Given the description of an element on the screen output the (x, y) to click on. 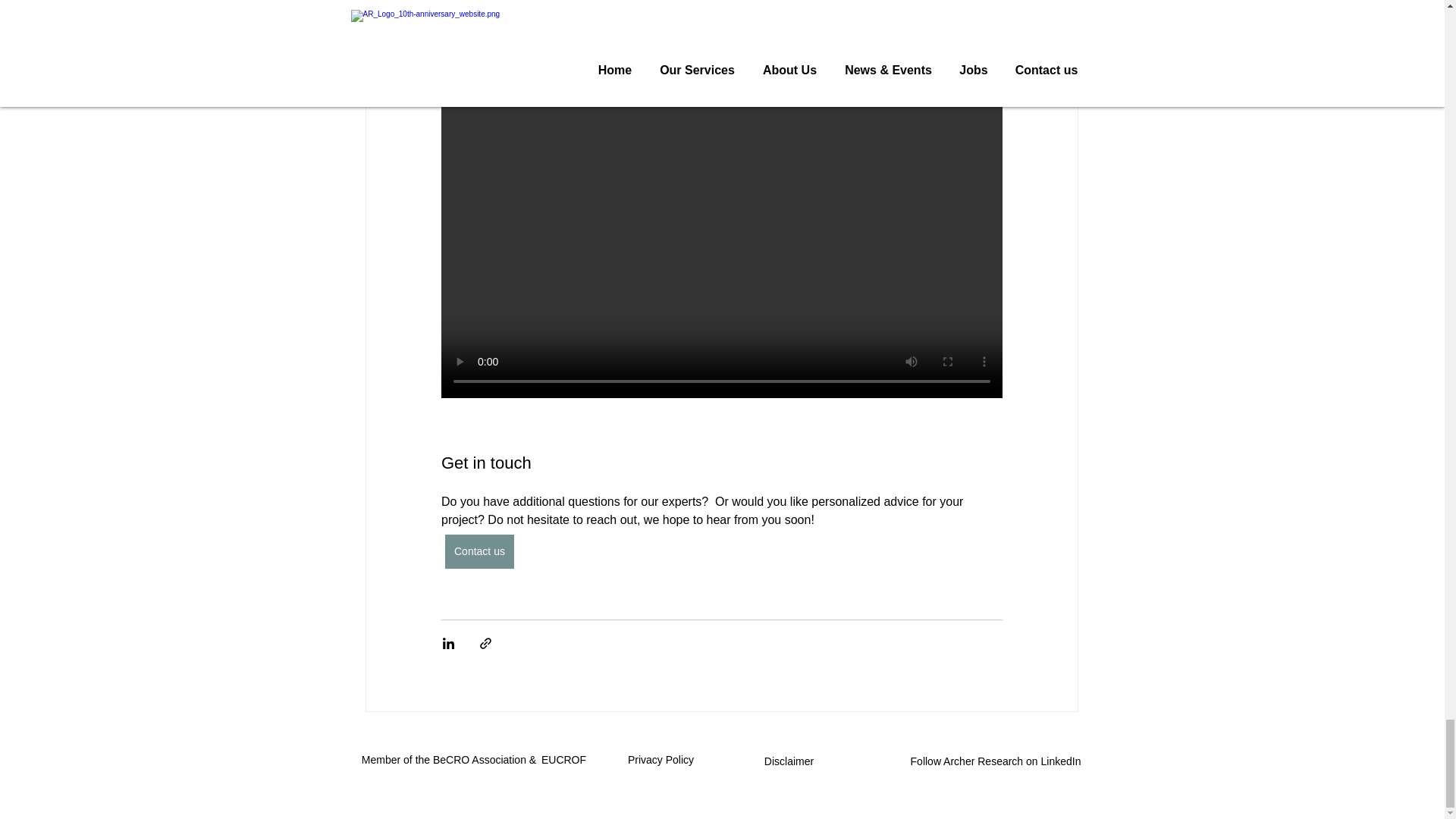
Follow Archer Research on LinkedIn (997, 761)
EUCROF (564, 759)
Disclaimer (790, 761)
Contact us (478, 551)
Privacy Policy (662, 759)
